Given the description of an element on the screen output the (x, y) to click on. 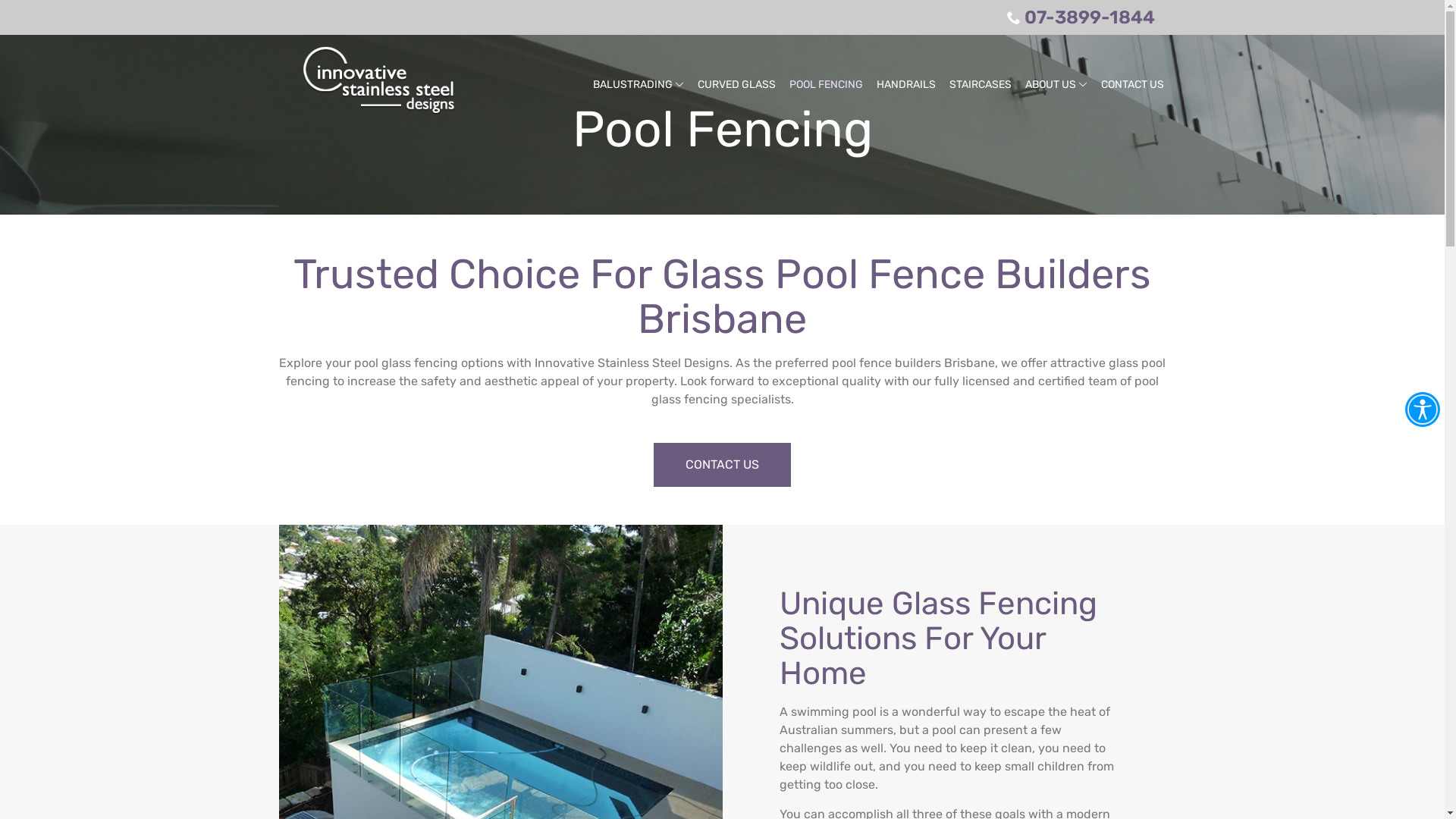
BALUSTRADING Element type: text (638, 84)
POOL FENCING Element type: text (825, 84)
CURVED GLASS Element type: text (736, 84)
STAIRCASES Element type: text (980, 84)
HANDRAILS Element type: text (905, 84)
ABOUT US Element type: text (1056, 84)
07-3899-1844 Element type: text (1080, 17)
CONTACT US Element type: text (1132, 84)
CONTACT US Element type: text (721, 464)
